Given the description of an element on the screen output the (x, y) to click on. 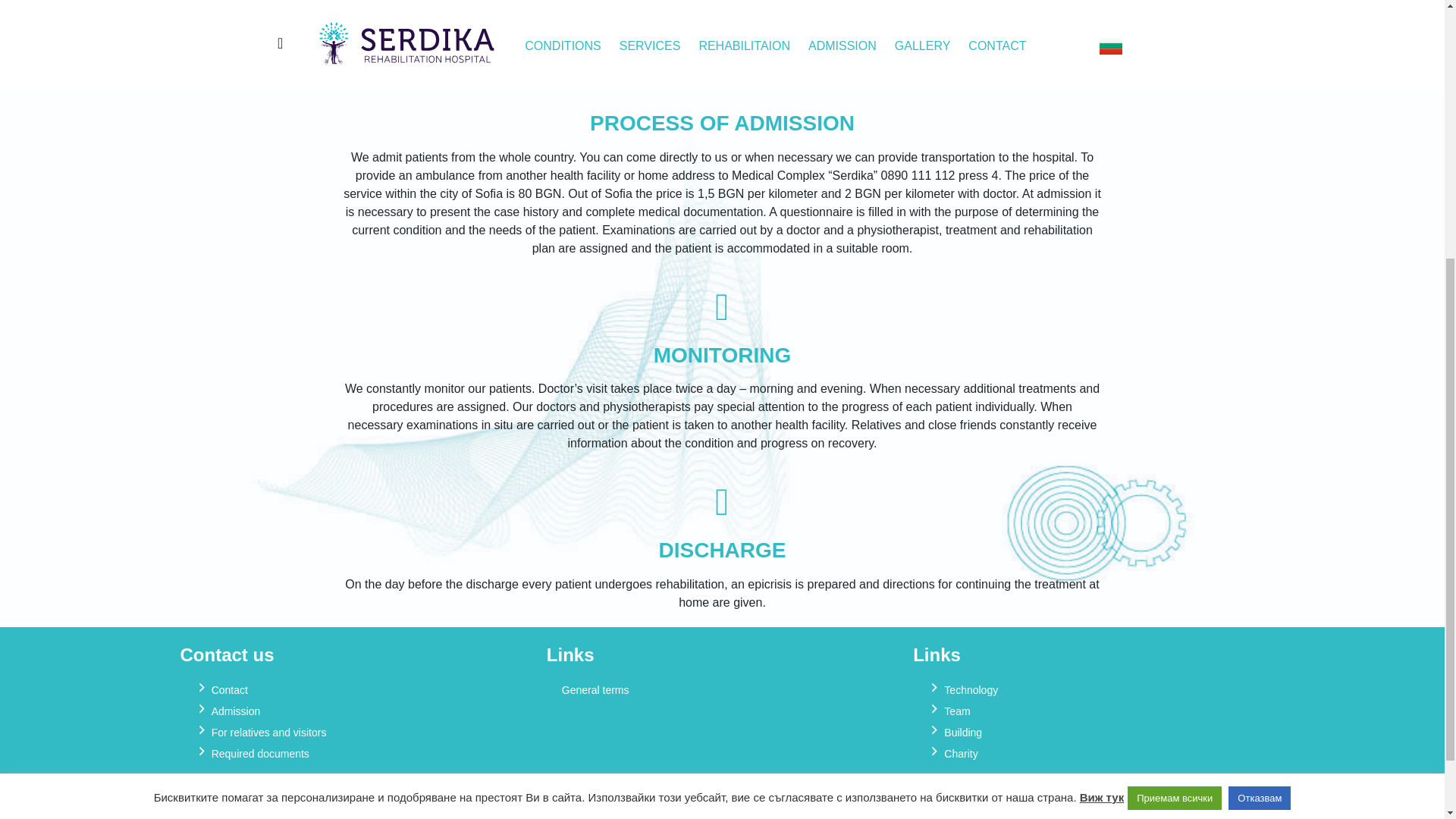
Required documents (355, 753)
Admission (355, 711)
Contact (355, 690)
General terms (722, 690)
For relatives and visitors (355, 731)
